Given the description of an element on the screen output the (x, y) to click on. 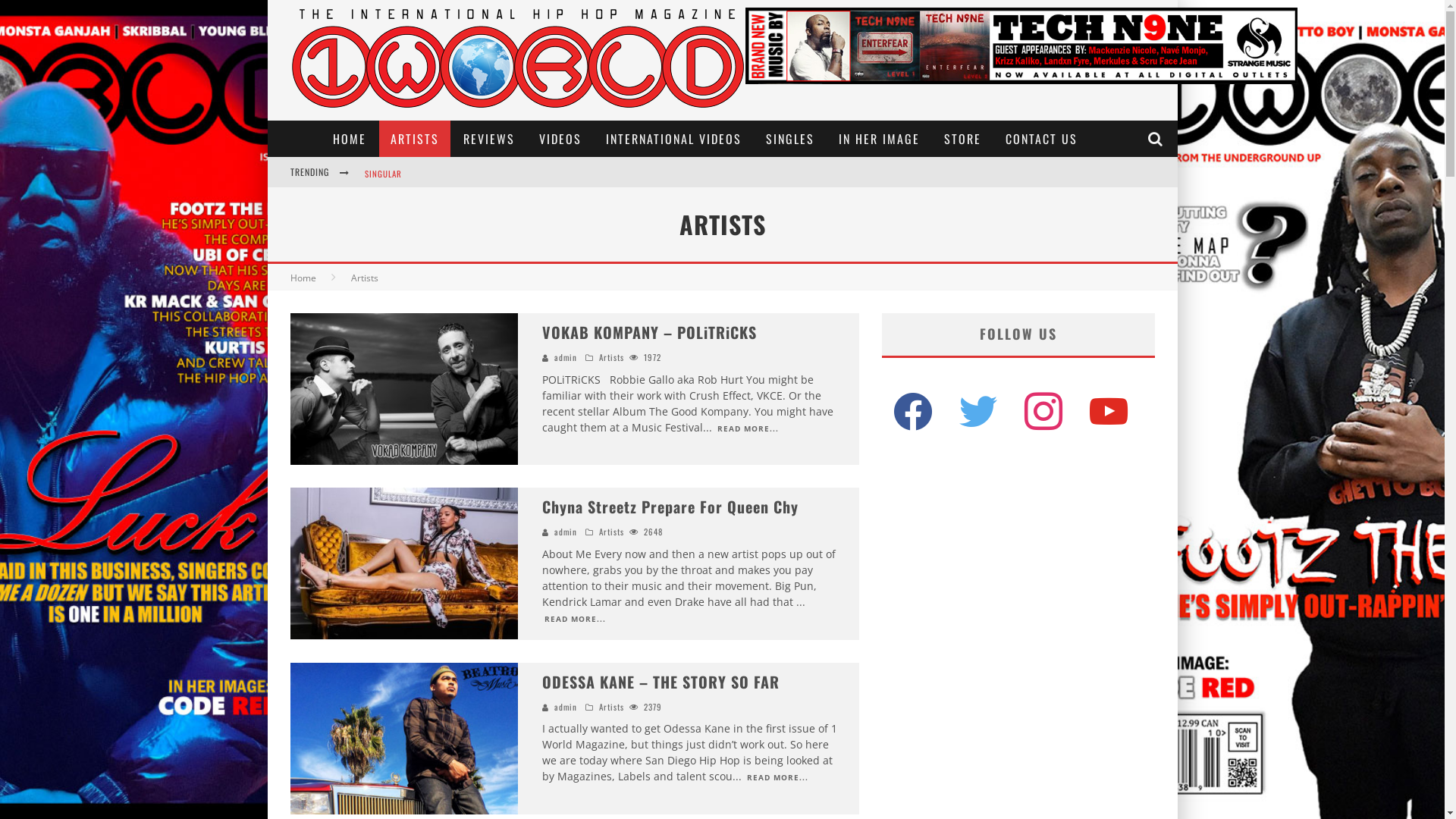
VIDEOS Element type: text (560, 138)
READ MORE... Element type: text (746, 427)
facebook Element type: text (912, 410)
READ MORE... Element type: text (776, 775)
HOME Element type: text (349, 138)
INTERNATIONAL VIDEOS Element type: text (673, 138)
Artists Element type: text (611, 357)
REVIEWS Element type: text (488, 138)
ARTISTS Element type: text (414, 138)
youtube Element type: text (1107, 410)
CONTACT US Element type: text (1041, 138)
DJ NU-MARK Element type: text (386, 173)
Home Element type: text (302, 277)
SINGLES Element type: text (789, 138)
IN HER IMAGE Element type: text (879, 138)
admin Element type: text (565, 531)
STORE Element type: text (962, 138)
twitter Element type: text (977, 410)
Artists Element type: text (611, 531)
READ MORE... Element type: text (573, 616)
Artists Element type: text (363, 277)
instagram Element type: text (1042, 410)
Artists Element type: text (611, 706)
admin Element type: text (565, 706)
Chyna Streetz Prepare For Queen Chy Element type: text (670, 506)
admin Element type: text (565, 357)
